Given the description of an element on the screen output the (x, y) to click on. 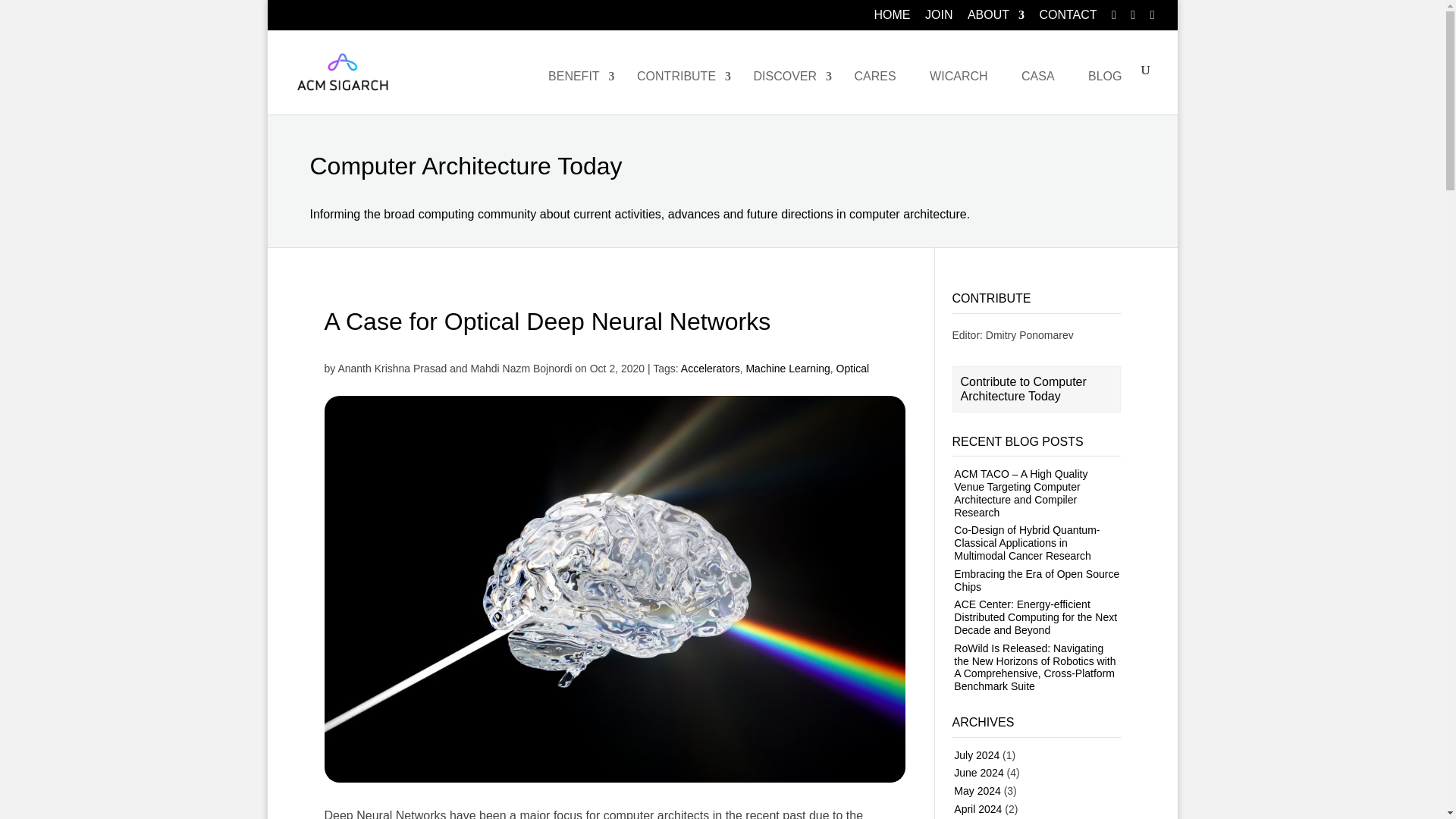
ABOUT (996, 19)
BENEFIT (575, 88)
CONTRIBUTE (678, 88)
Back to blog index. (721, 181)
JOIN (938, 19)
CARES (875, 88)
DISCOVER (786, 88)
HOME (893, 19)
CONTACT (1067, 19)
